Given the description of an element on the screen output the (x, y) to click on. 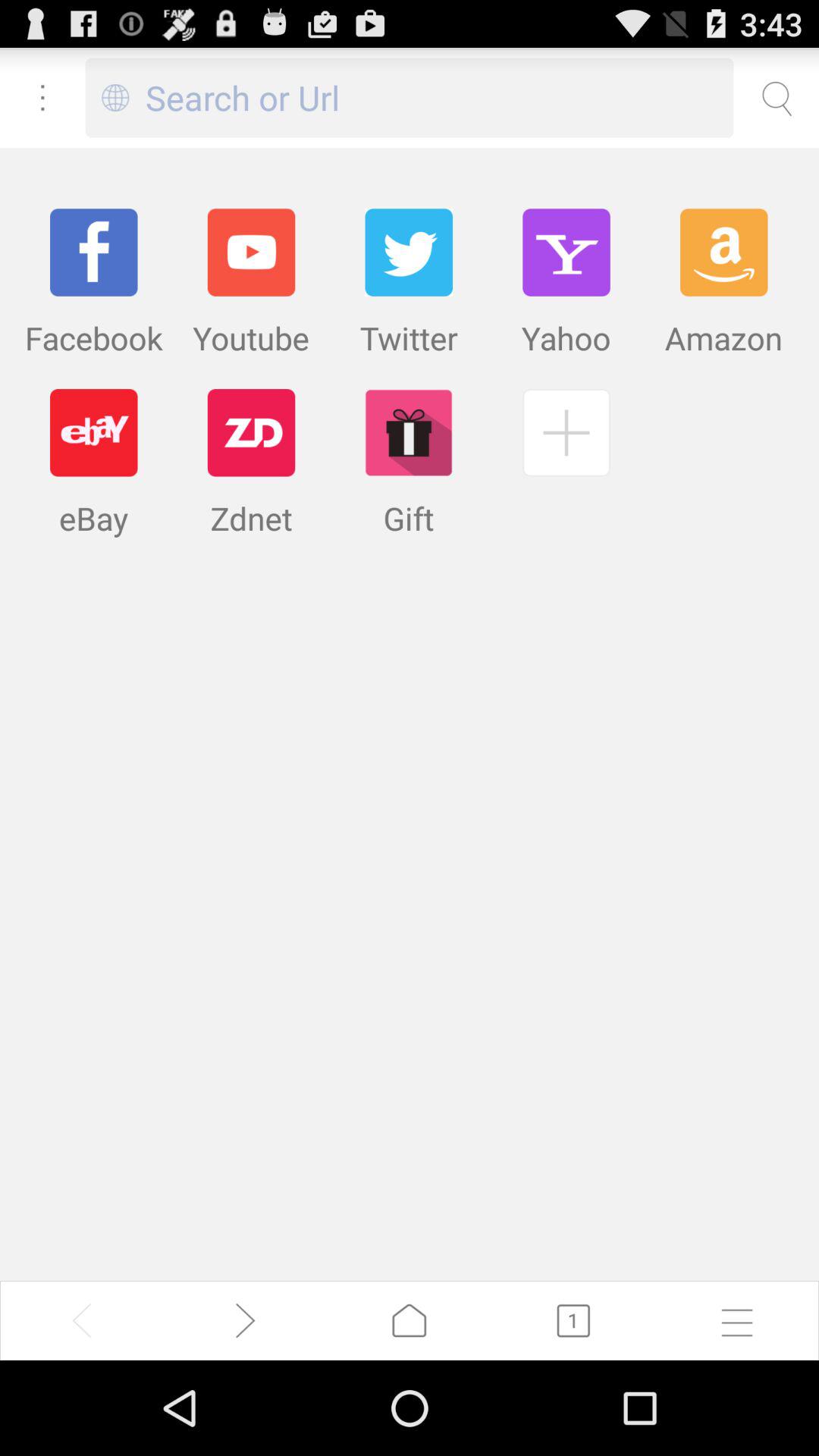
scroll to the search or url item (439, 97)
